Given the description of an element on the screen output the (x, y) to click on. 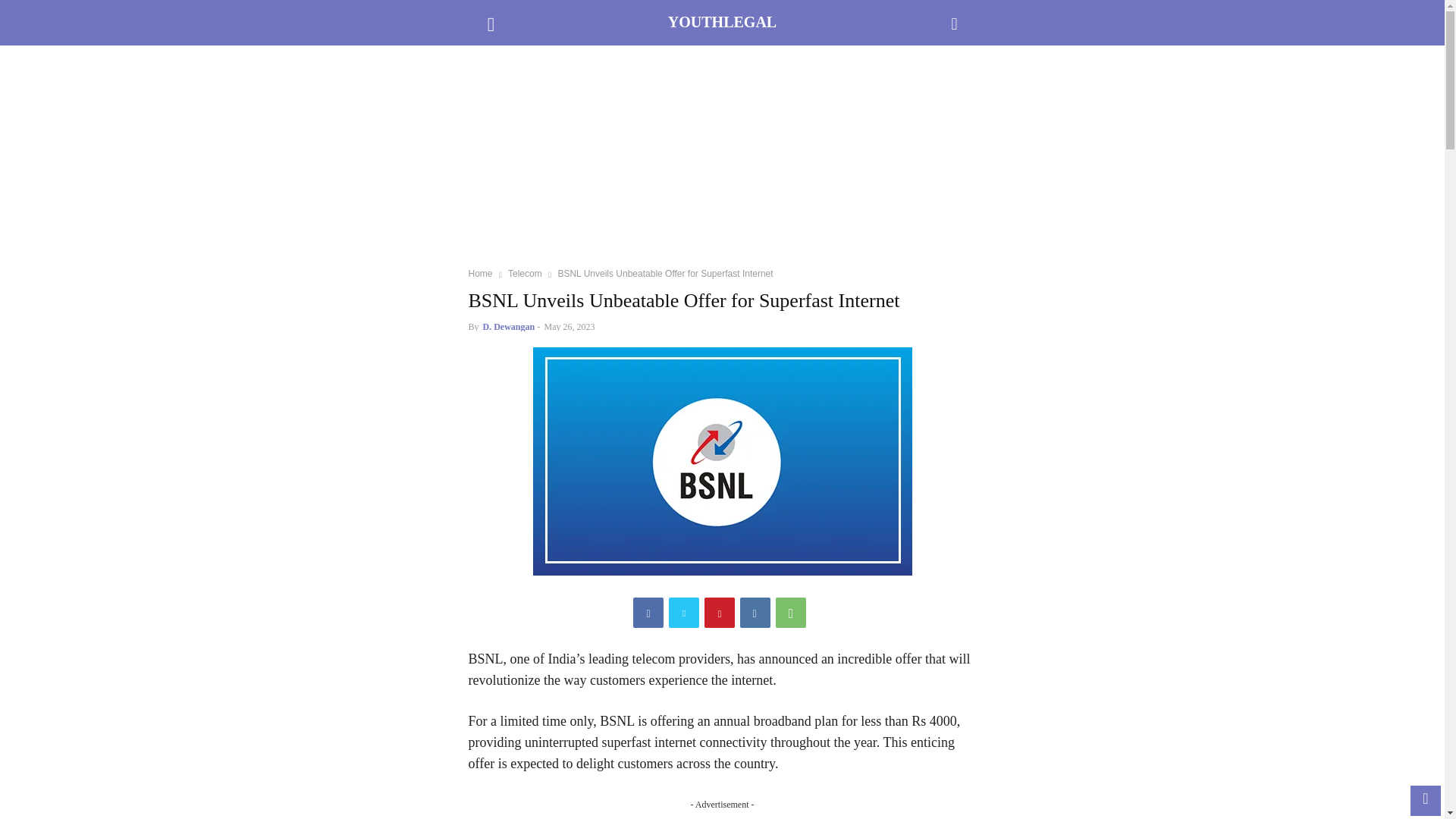
Pinterest (719, 612)
3rd party ad content (721, 162)
View all posts in Telecom (524, 273)
Facebook (648, 612)
YOUTHLEGAL (722, 22)
Home (480, 273)
Telecom (524, 273)
D. Dewangan (509, 326)
Twitter (683, 612)
VK (754, 612)
